Given the description of an element on the screen output the (x, y) to click on. 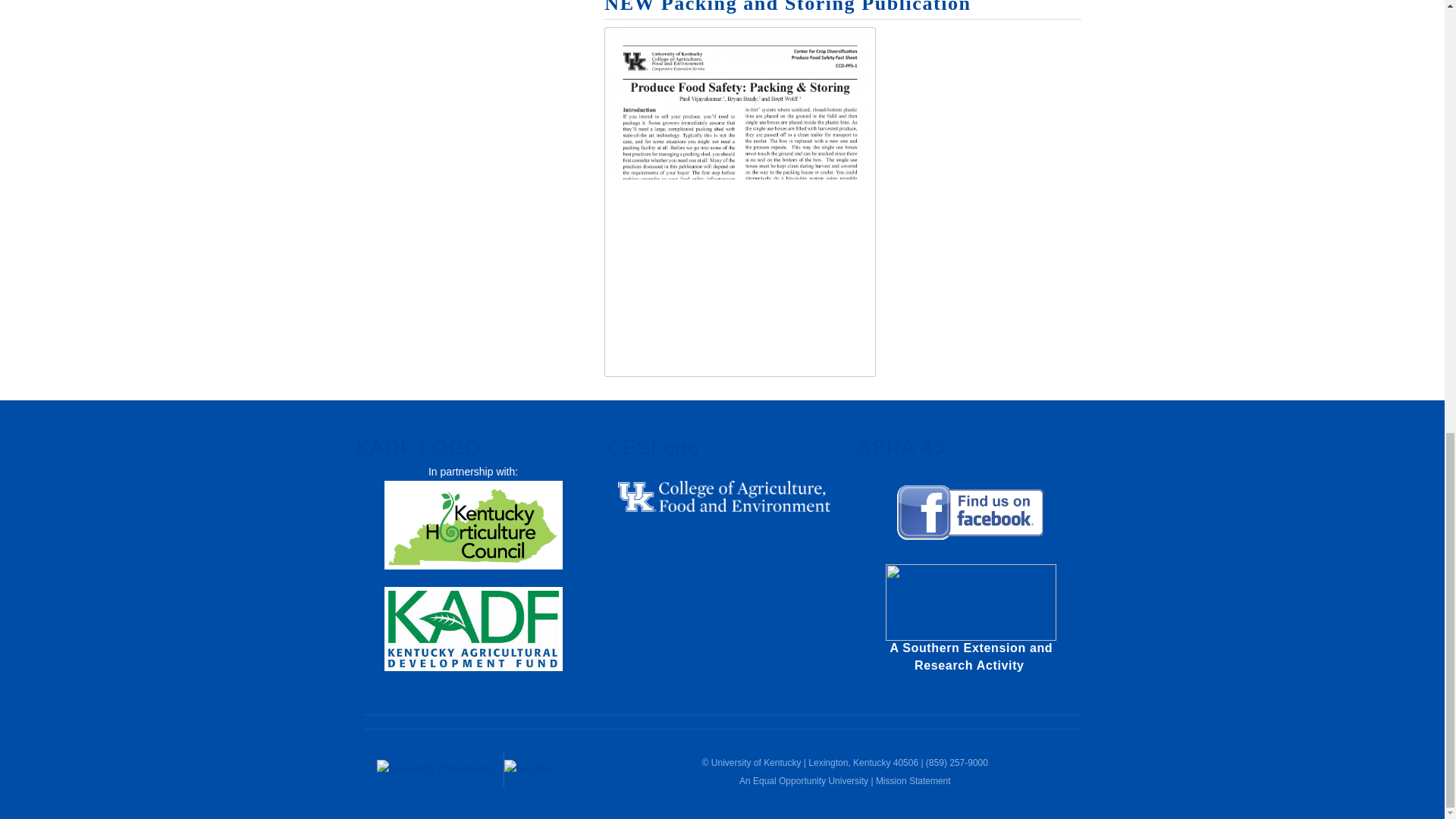
see blue. (552, 769)
KENTUCKY (438, 769)
